Given the description of an element on the screen output the (x, y) to click on. 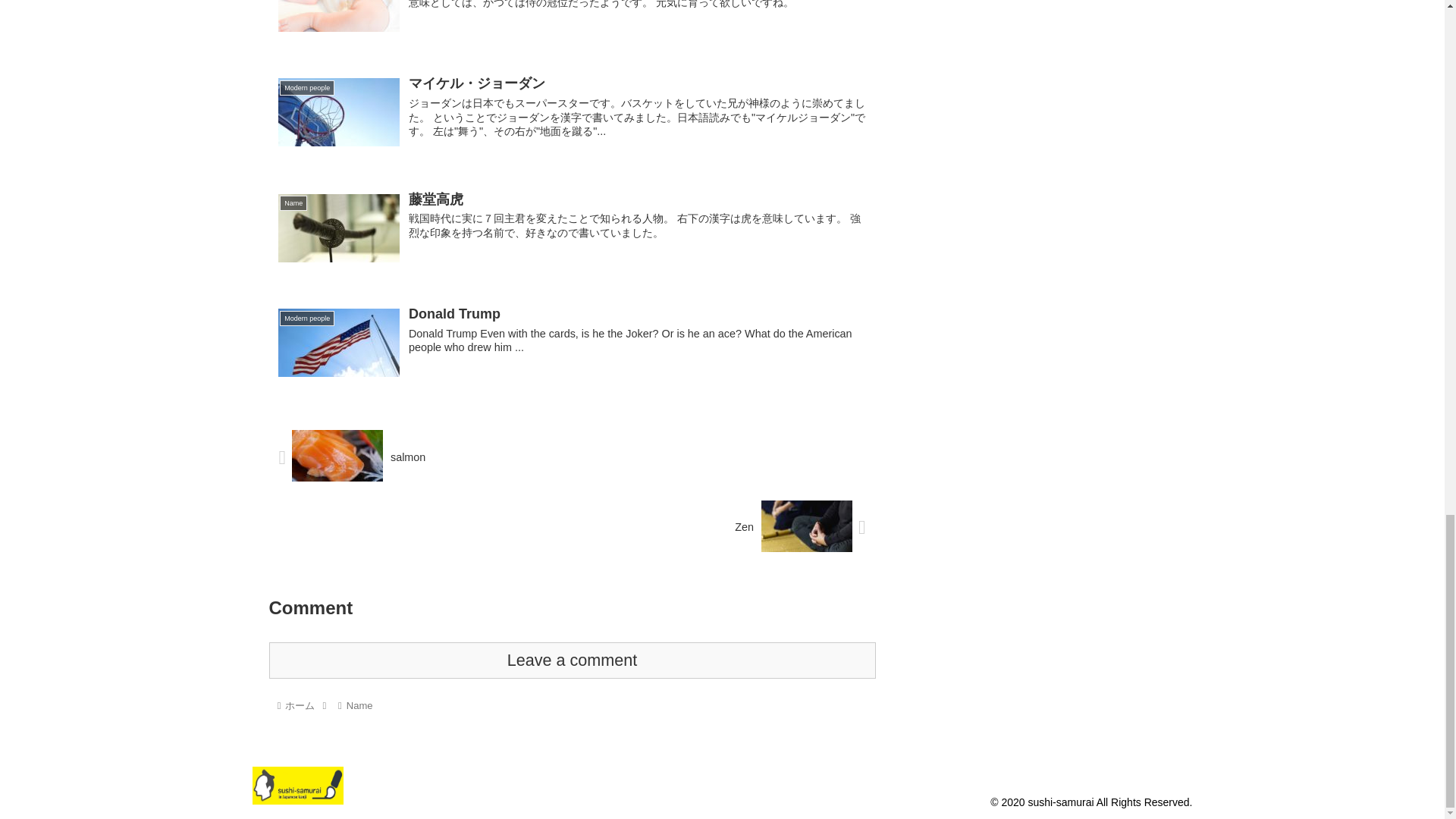
Donald Trump (571, 345)
salmon (571, 457)
Zen (571, 527)
